Given the description of an element on the screen output the (x, y) to click on. 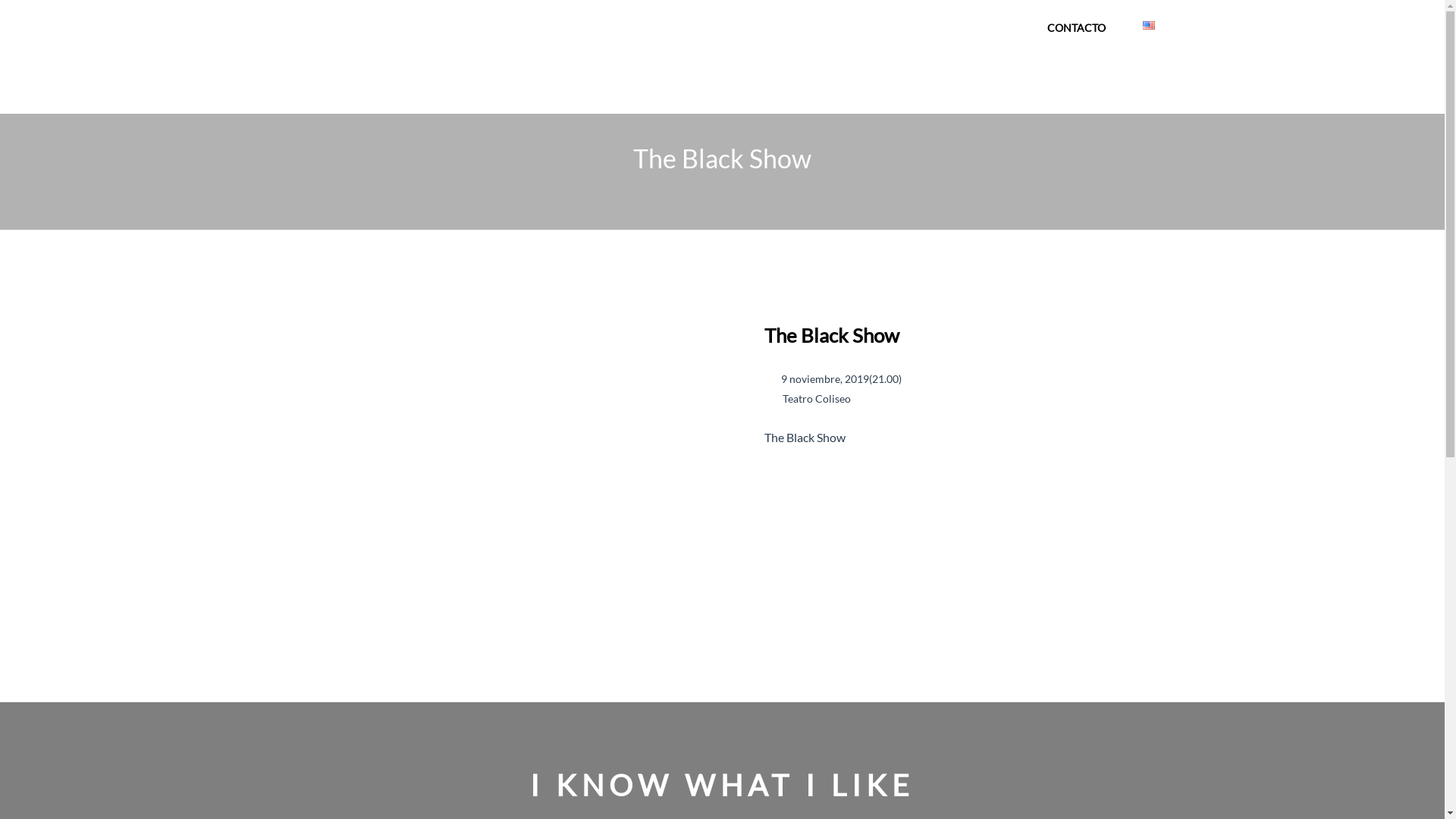
PRENSA Element type: text (886, 26)
GENETICS Element type: text (946, 26)
SPONSORS Element type: text (825, 26)
CONCIERTOS Element type: text (693, 26)
CONTACTO Element type: text (1075, 27)
